Given the description of an element on the screen output the (x, y) to click on. 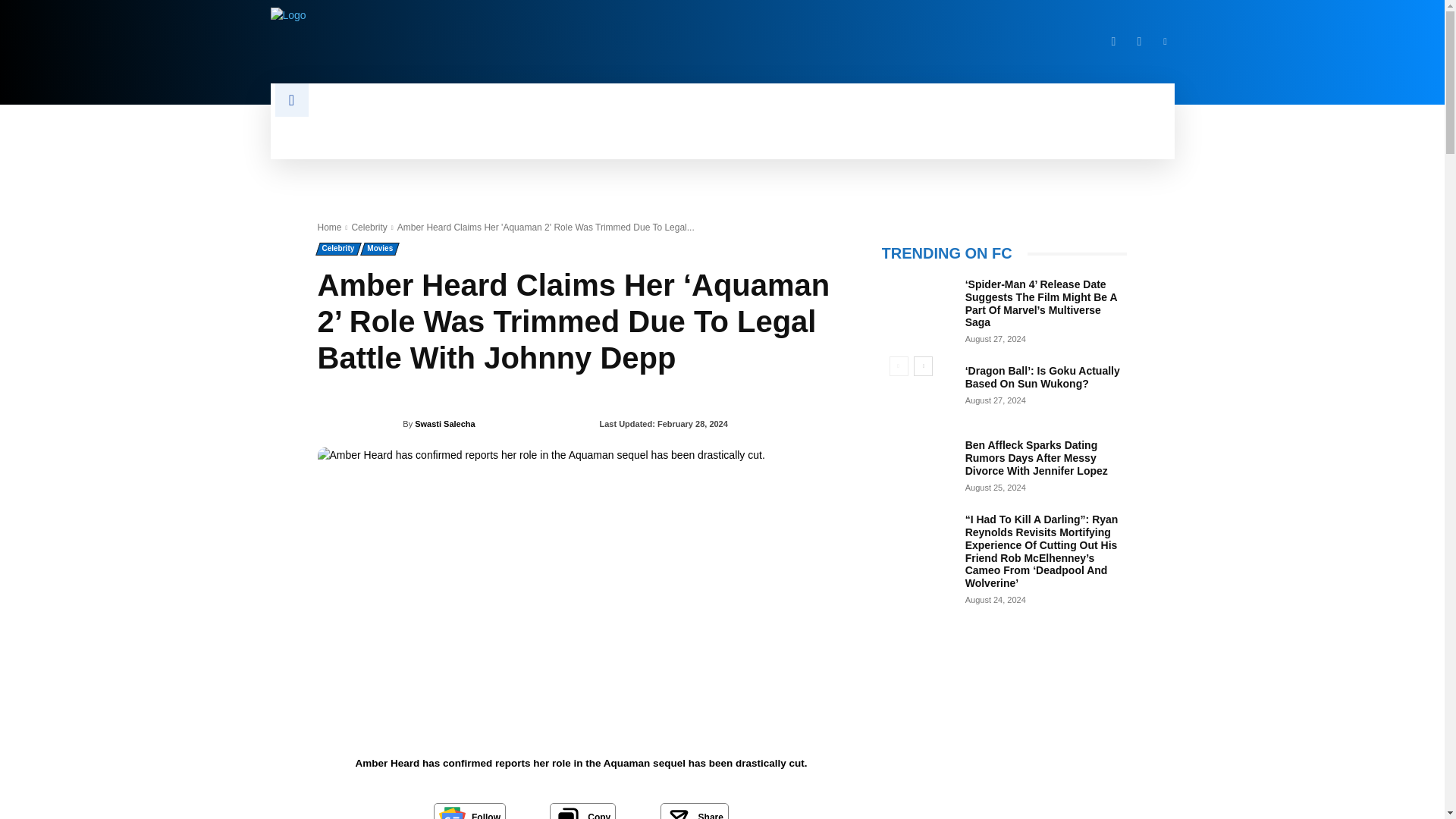
Linkedin (1164, 41)
Twitter (1138, 41)
Home (328, 226)
View all posts in Celebrity (368, 226)
Facebook (1112, 41)
Celebrity (368, 226)
